Given the description of an element on the screen output the (x, y) to click on. 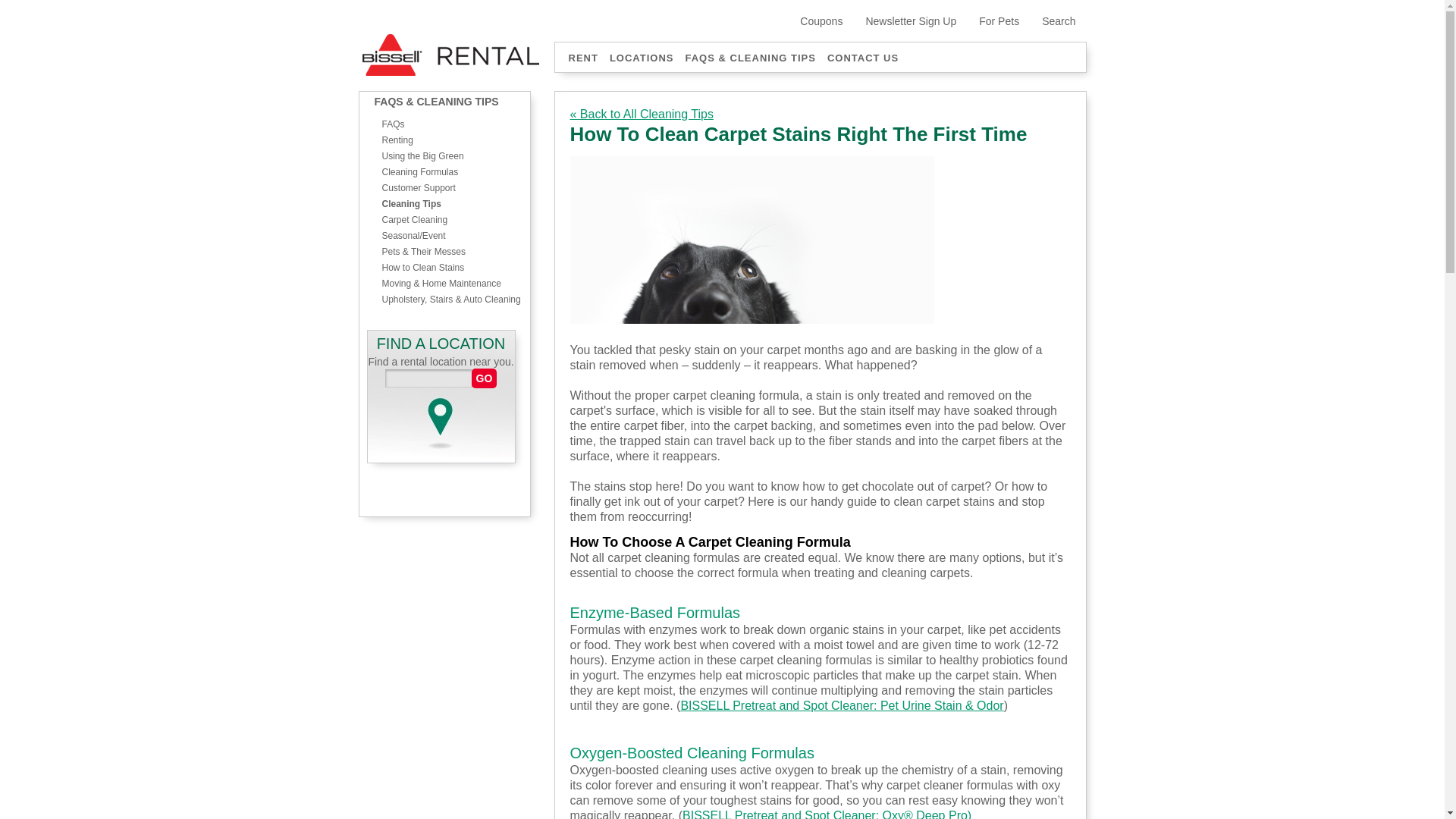
Coupons (810, 21)
For Pets (987, 21)
Search (1047, 21)
Newsletter Sign Up (899, 21)
LOCATIONS (636, 57)
Renting (454, 140)
RENT (576, 57)
CONTACT US (856, 57)
